Given the description of an element on the screen output the (x, y) to click on. 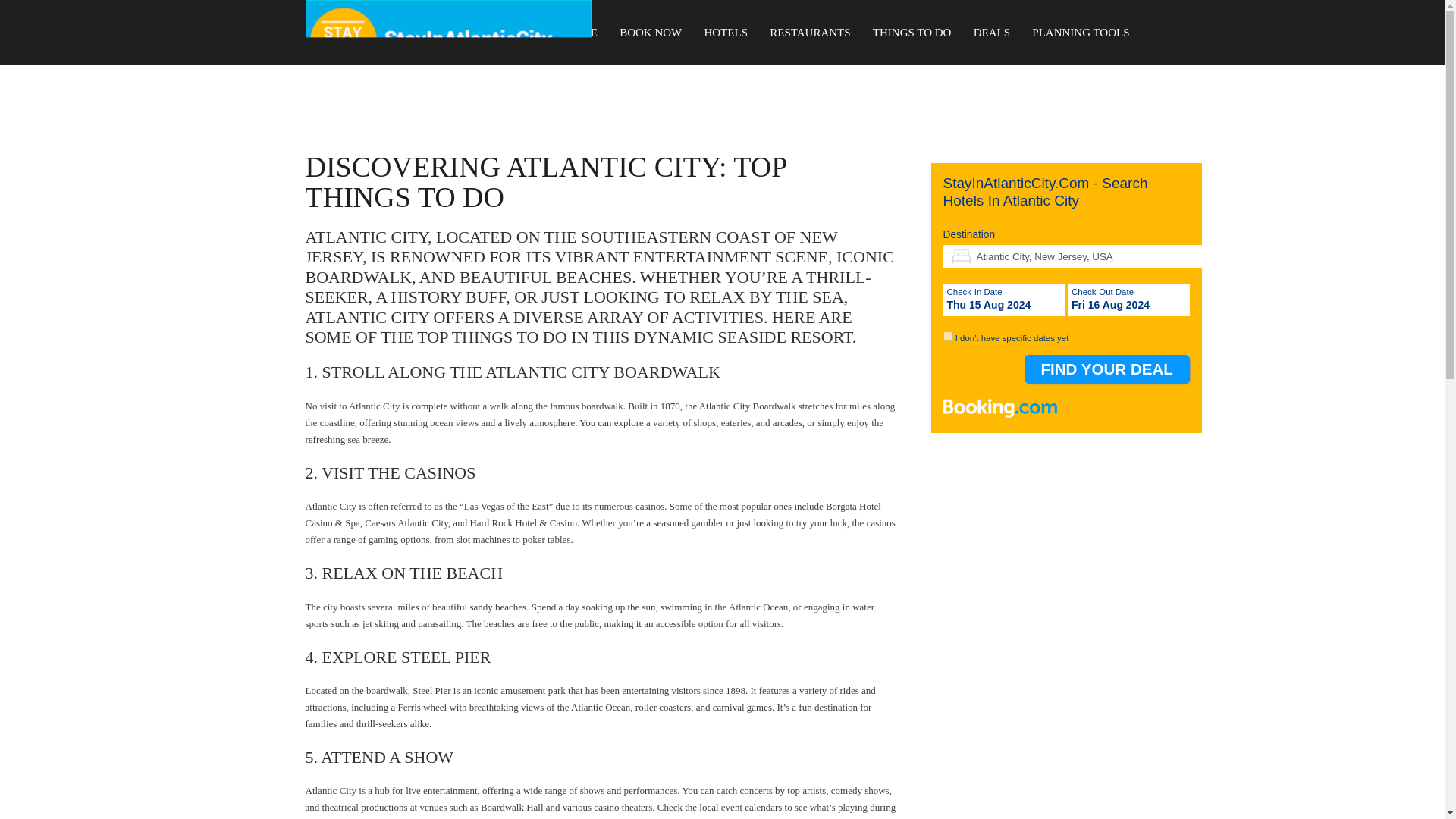
FIND YOUR DEAL (1107, 369)
on (948, 336)
RESTAURANTS (810, 32)
PLANNING TOOLS (1080, 32)
HOTELS (726, 32)
THINGS TO DO (911, 32)
Atlantic City, New Jersey, USA (1072, 256)
FIND YOUR DEAL (1107, 369)
BOOK NOW (650, 32)
